Given the description of an element on the screen output the (x, y) to click on. 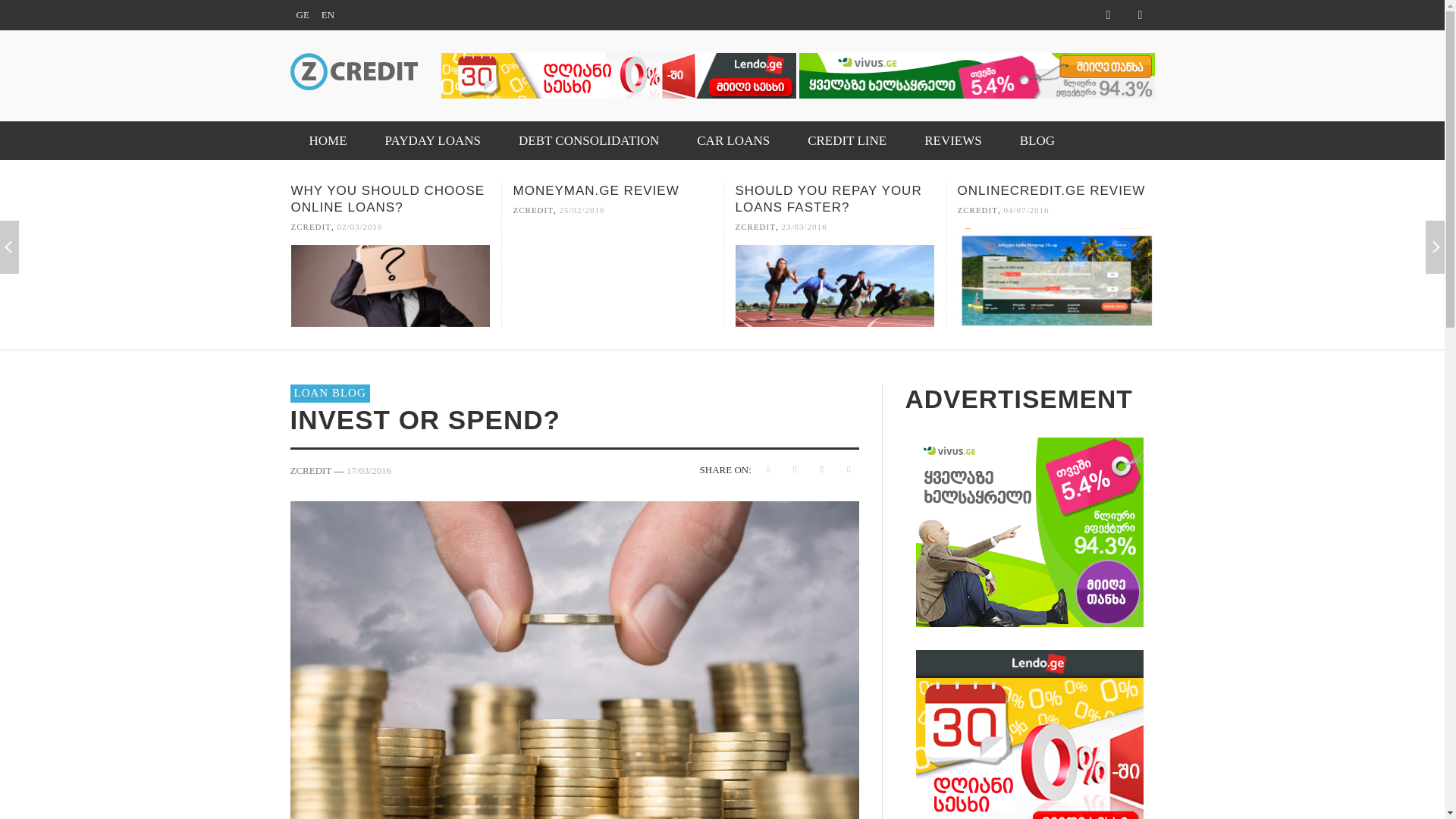
REVIEWS (953, 140)
Twitter (1107, 15)
View all posts by zcredit (311, 226)
Permalink to Moneyman.ge review (595, 190)
Permalink to Why you should choose online loans? (358, 226)
Permalink to Moneyman.ge review (581, 210)
BLOG (1037, 140)
View all posts by zcredit (532, 210)
HOME (327, 140)
DEBT CONSOLIDATION (588, 140)
